Given the description of an element on the screen output the (x, y) to click on. 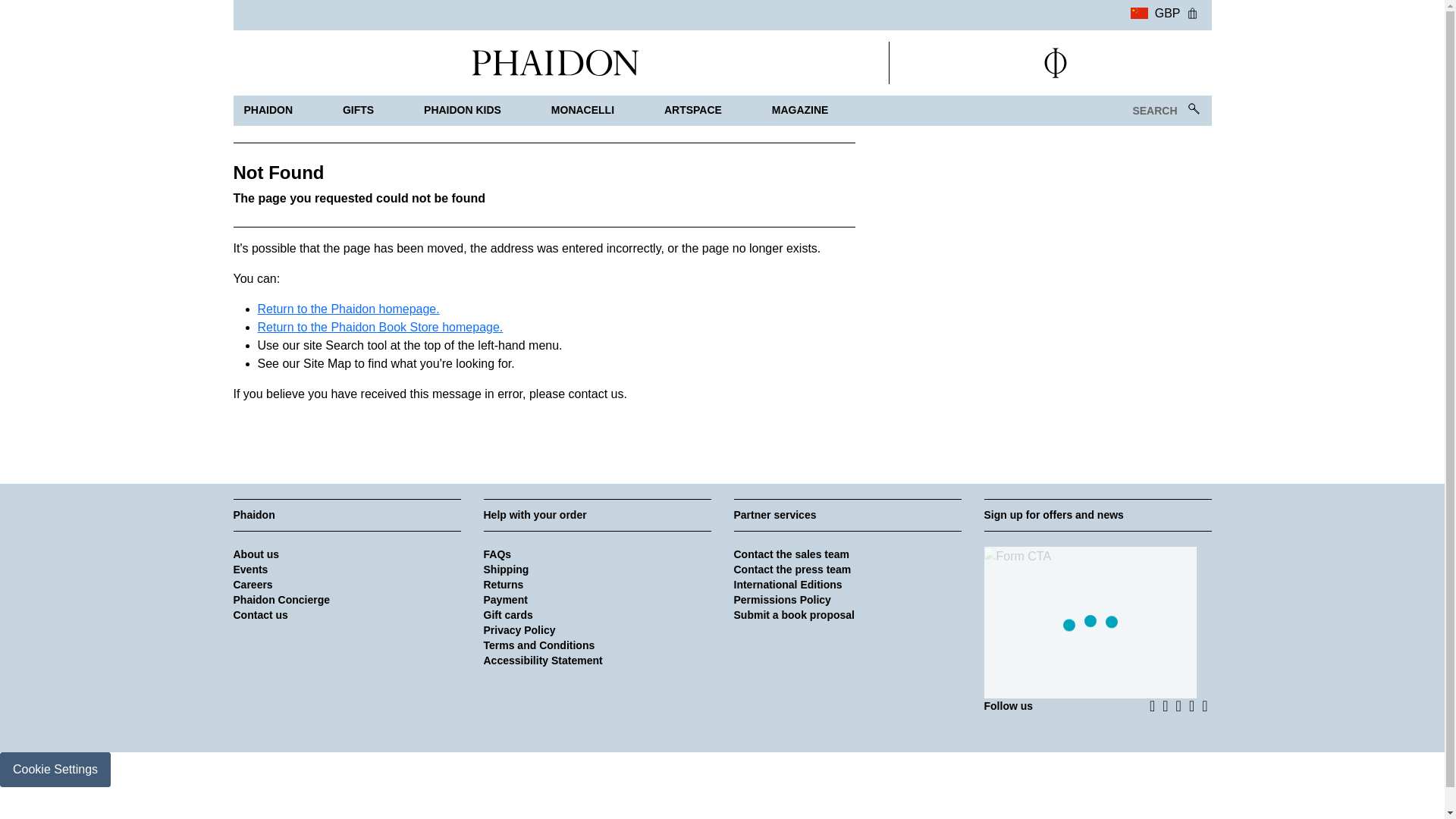
PHAIDON KIDS (462, 110)
PHAIDON (268, 110)
GIFTS (358, 110)
GBP (1155, 11)
MONACELLI (582, 110)
